Given the description of an element on the screen output the (x, y) to click on. 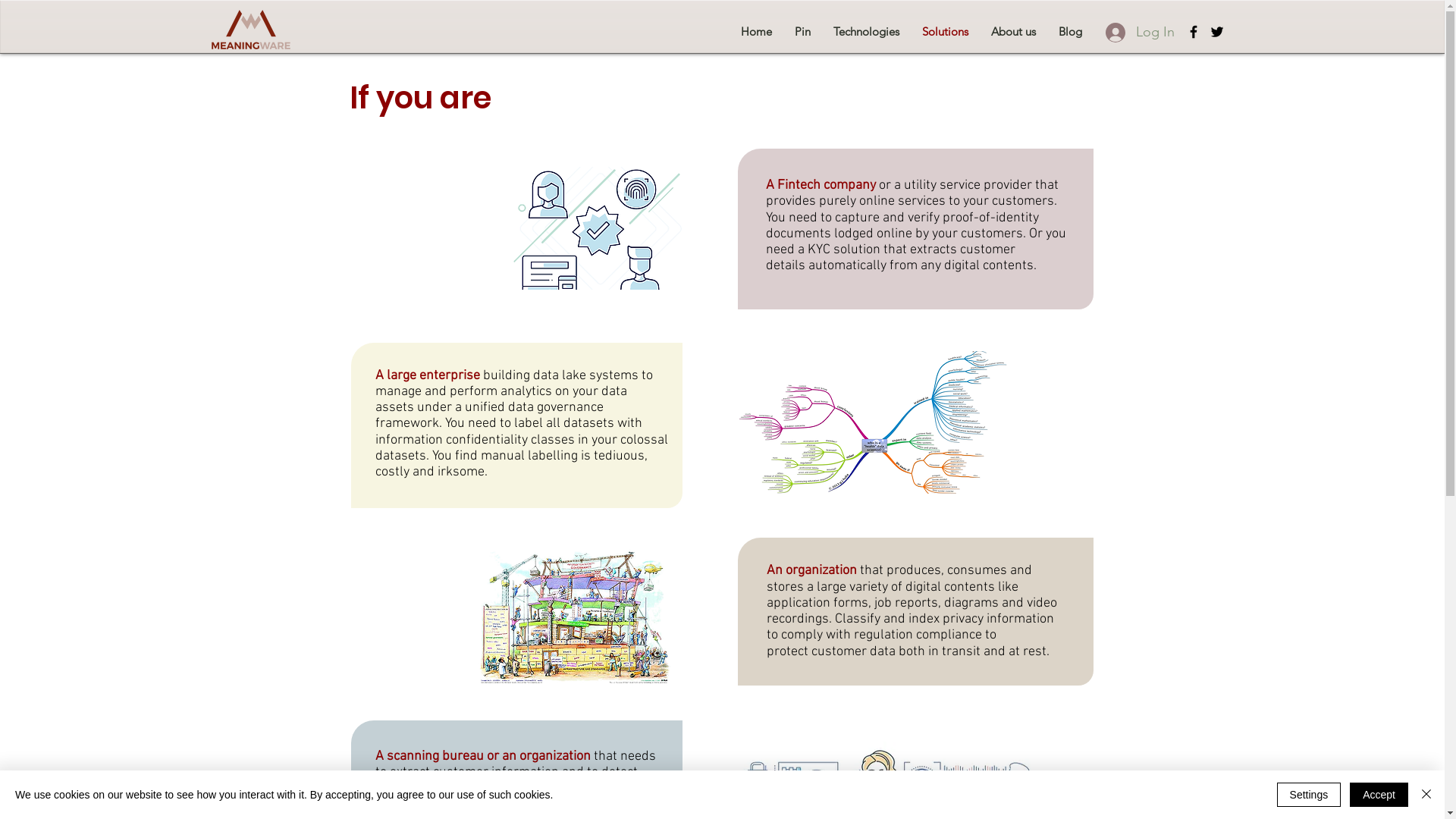
FreeGovernance.jpg Element type: hover (573, 614)
Solutions Element type: text (944, 31)
Meaningware---Logo-Design---04---high-re Element type: hover (250, 29)
Home Element type: text (756, 31)
Blog Element type: text (1069, 31)
Settings Element type: text (1309, 794)
DataLake.png Element type: hover (872, 421)
kyc.jpg Element type: hover (596, 227)
Technologies Element type: text (866, 31)
Pin Element type: text (801, 31)
Accept Element type: text (1378, 794)
Log In Element type: text (1140, 32)
About us Element type: text (1013, 31)
